Given the description of an element on the screen output the (x, y) to click on. 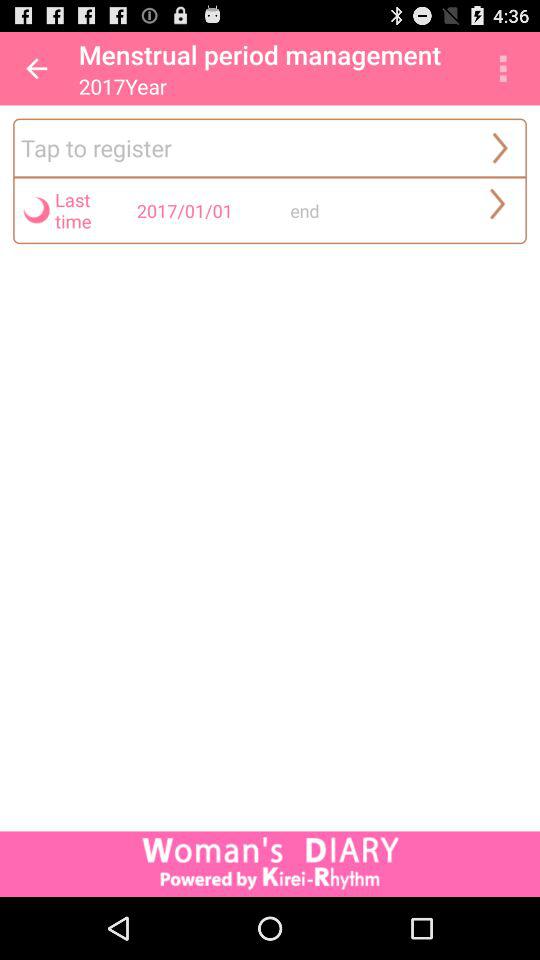
select the icon beside the last time (36, 209)
select the text end on a page (361, 209)
